Given the description of an element on the screen output the (x, y) to click on. 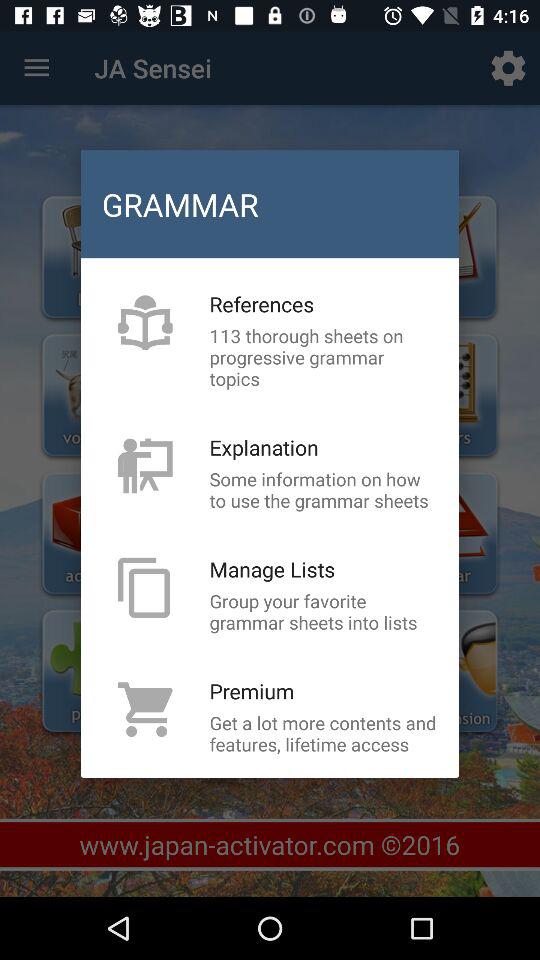
select item below group your favorite (251, 690)
